Given the description of an element on the screen output the (x, y) to click on. 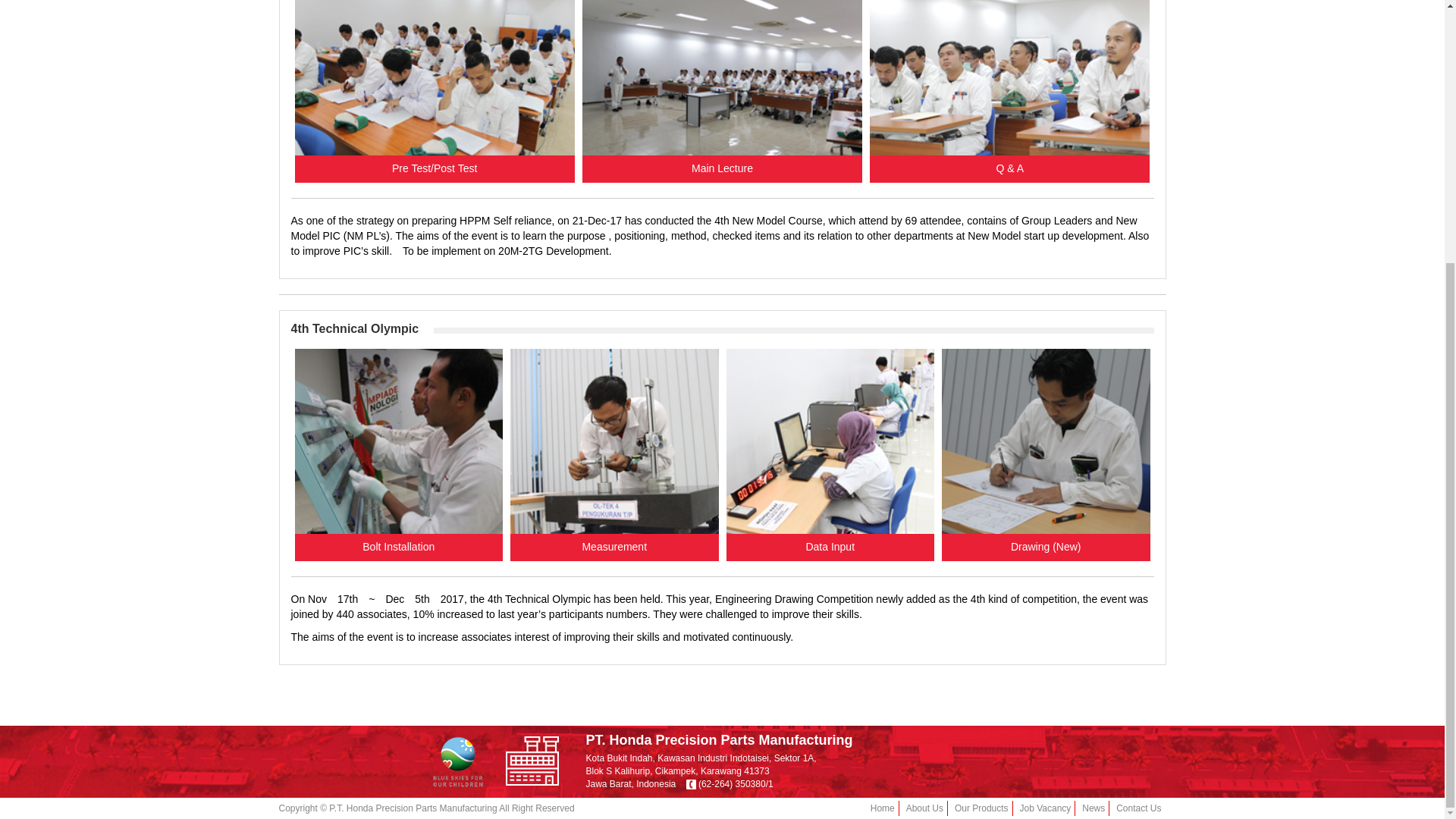
About Us (924, 429)
Our Products (982, 429)
News (1093, 429)
Contact Us (1138, 429)
Job Vacancy (1045, 429)
Home (882, 429)
